Given the description of an element on the screen output the (x, y) to click on. 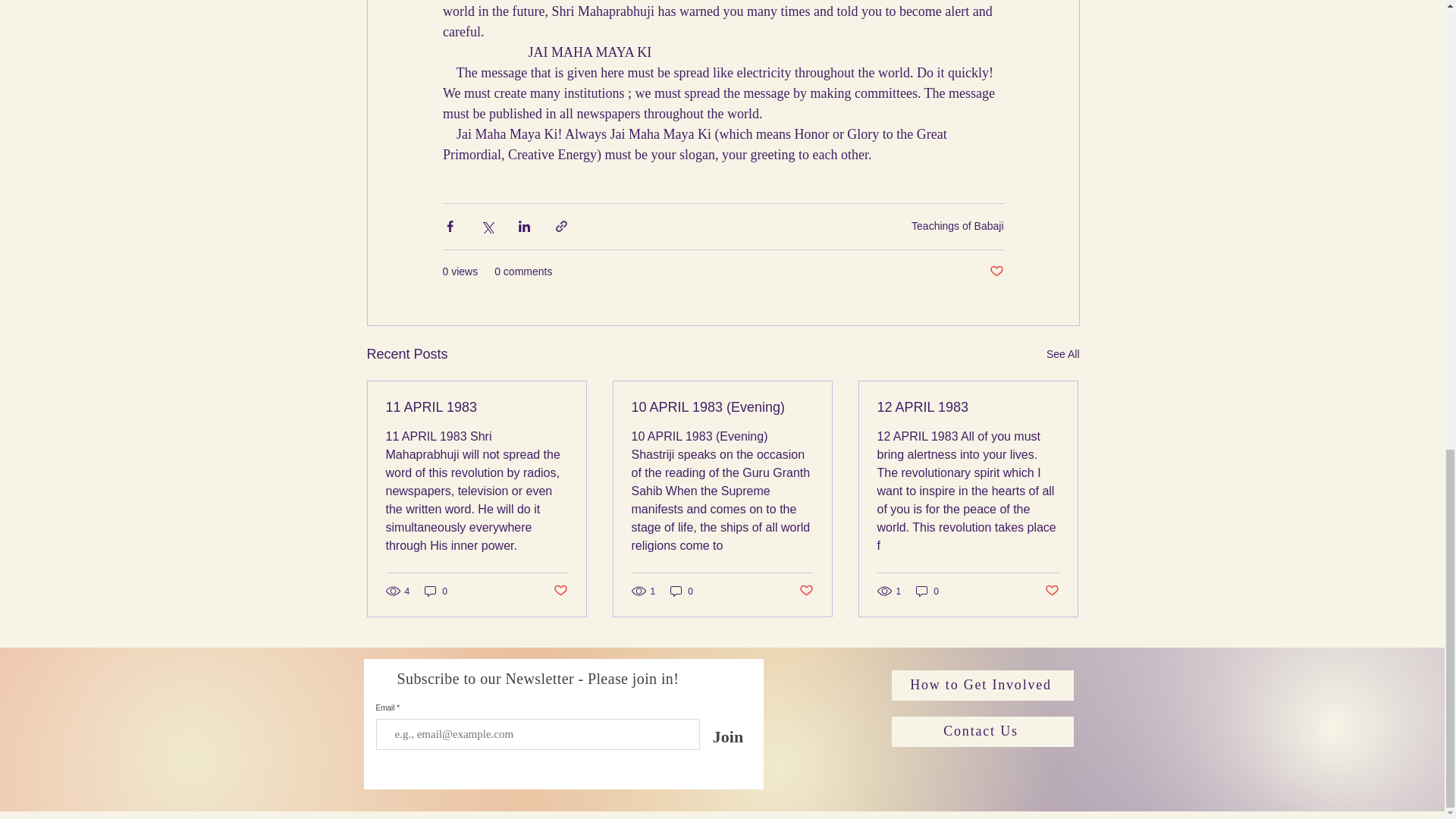
0 (435, 590)
See All (1063, 354)
Post not marked as liked (560, 590)
Post not marked as liked (995, 271)
11 APRIL 1983 (476, 407)
Teachings of Babaji (957, 225)
